Given the description of an element on the screen output the (x, y) to click on. 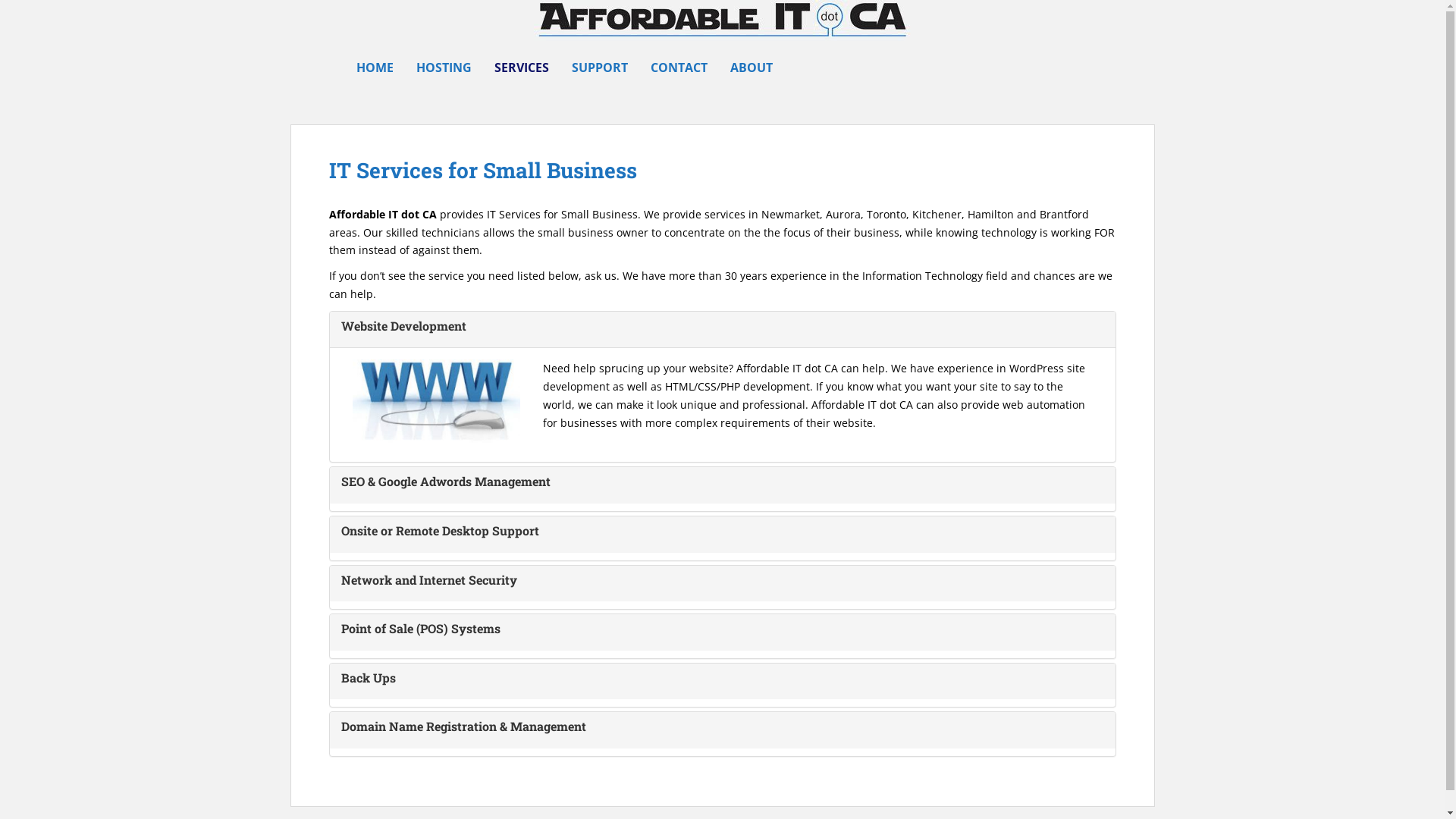
Point of Sale (POS) Systems Element type: text (420, 628)
Onsite or Remote Desktop Support Element type: text (440, 530)
SERVICES Element type: text (521, 67)
HOME Element type: text (374, 67)
SEO & Google Adwords Management Element type: text (445, 481)
Domain Name Registration & Management Element type: text (463, 726)
CONTACT Element type: text (678, 67)
SUPPORT Element type: text (599, 67)
Network and Internet Security Element type: text (429, 579)
Website Development Element type: text (403, 325)
ABOUT Element type: text (750, 67)
HOSTING Element type: text (442, 67)
Back Ups Element type: text (368, 677)
